Given the description of an element on the screen output the (x, y) to click on. 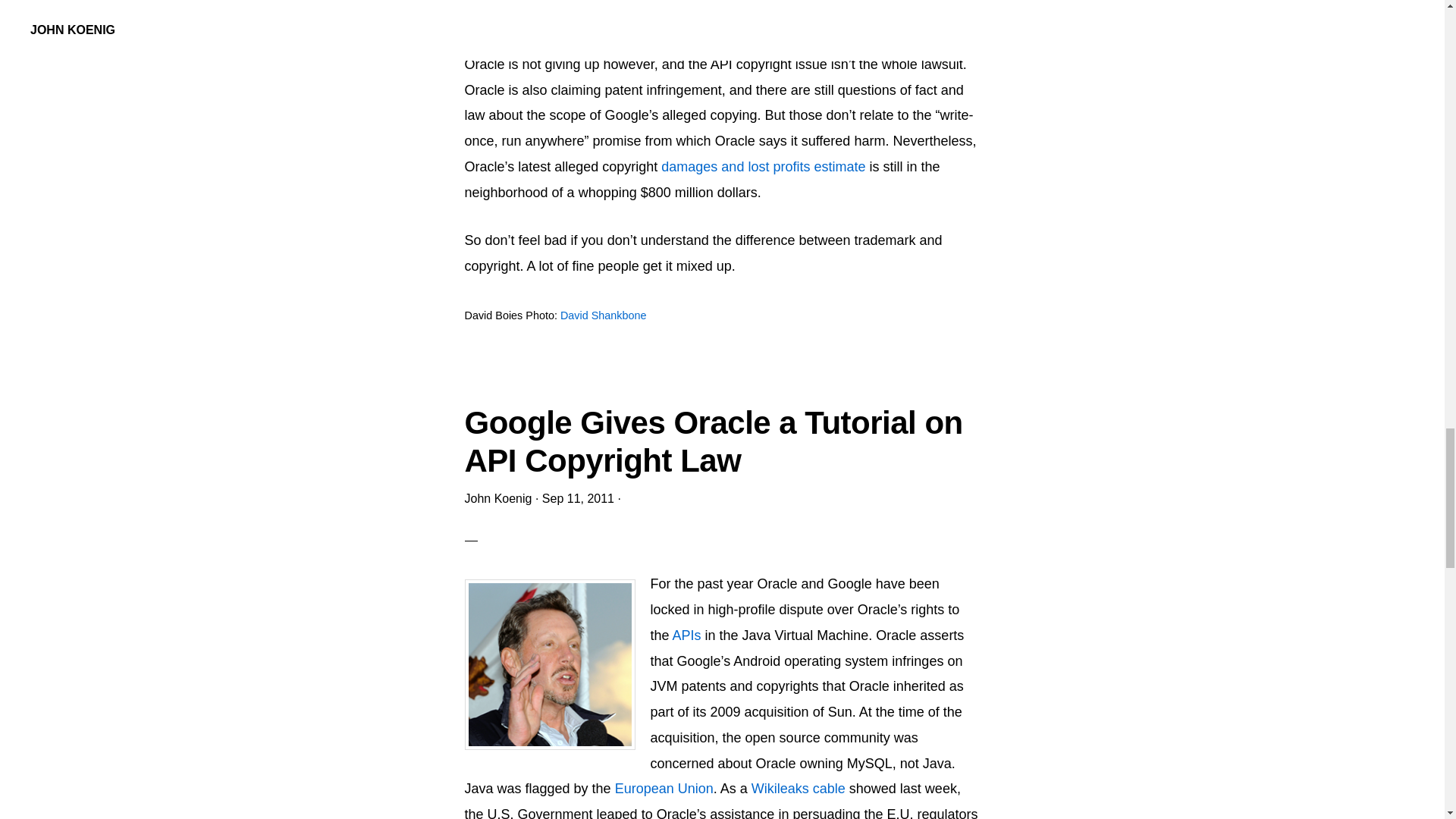
APIs (686, 635)
damages and lost profits estimate (762, 166)
European Union (663, 788)
Google Gives Oracle a Tutorial on API Copyright Law (713, 441)
larry-ellison (549, 664)
Wikileaks cable (799, 788)
John Koenig (497, 498)
David Shankbone (603, 315)
